Given the description of an element on the screen output the (x, y) to click on. 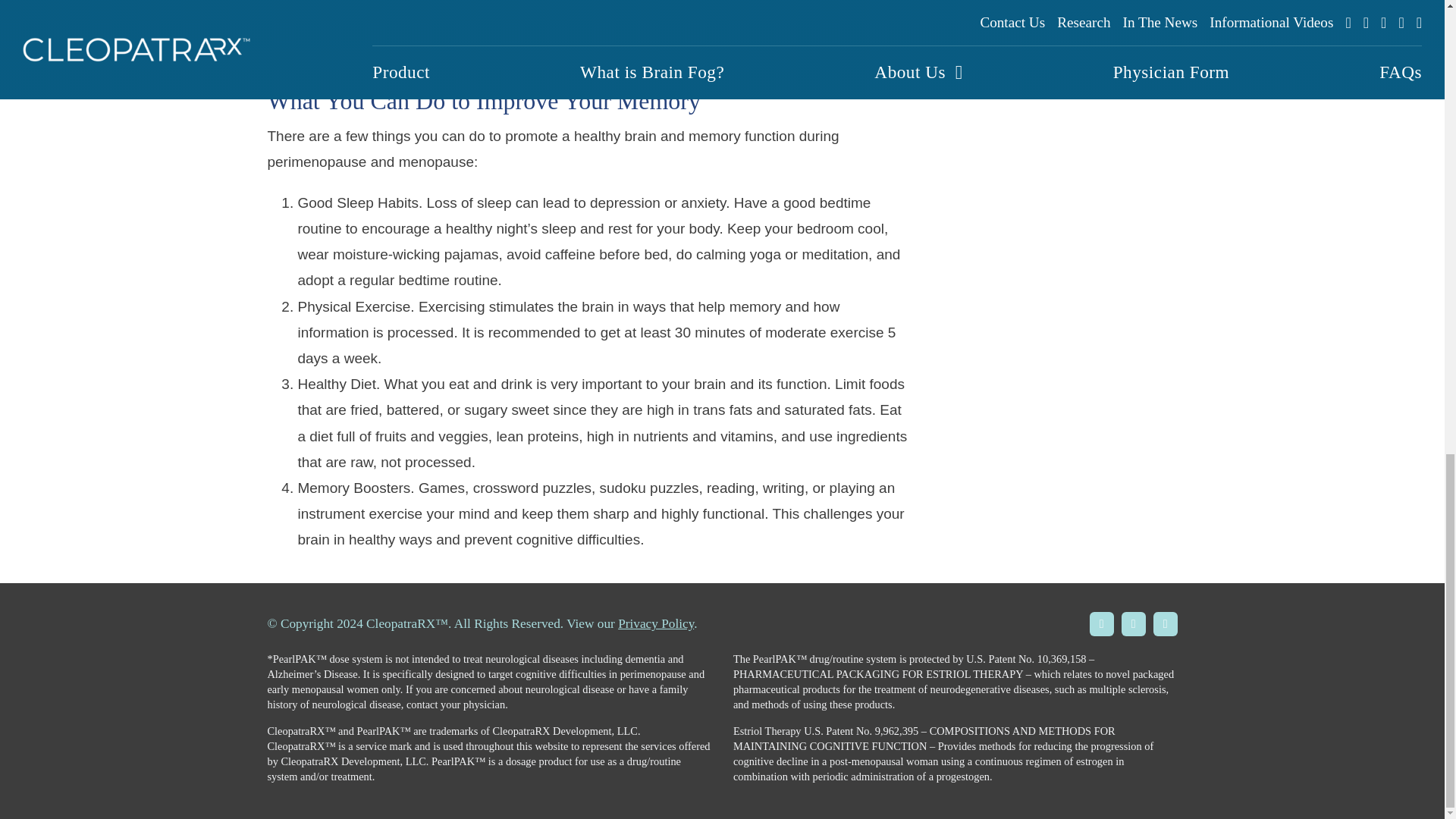
Instagram (1133, 623)
Facebook (1101, 623)
LinkedIn (1165, 623)
Privacy Policy (655, 623)
